Given the description of an element on the screen output the (x, y) to click on. 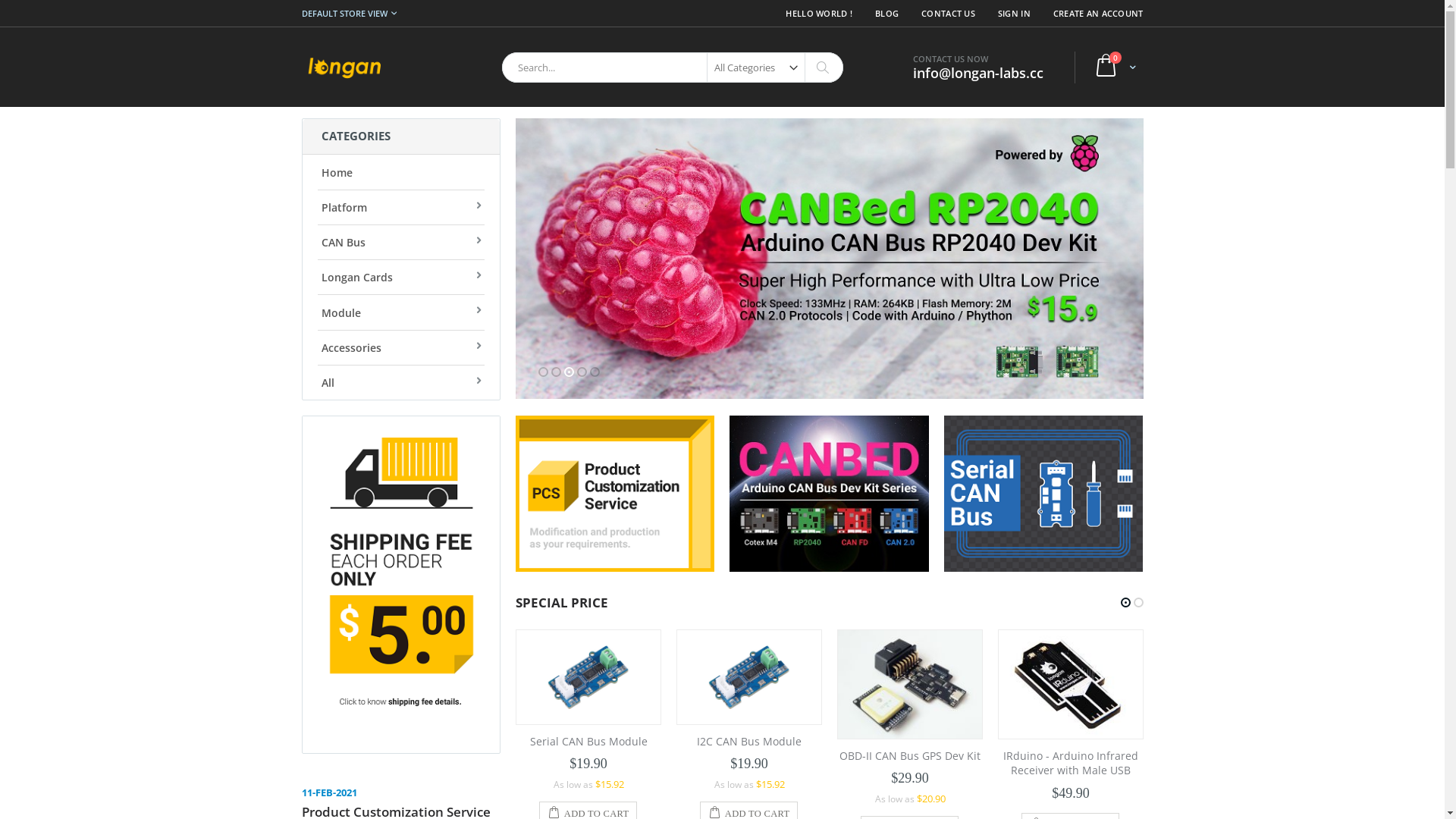
Longan Cards Element type: text (400, 276)
As low as $20.90 Element type: text (749, 798)
Module Element type: text (400, 311)
CREATE AN ACCOUNT Element type: text (1092, 12)
CONTACT US Element type: text (948, 12)
CANBed - Arduino CAN Bus Dev Kit Element type: text (1070, 748)
OBD-II CAN Bus GPS Dev Kit Element type: text (748, 755)
SIGN IN Element type: text (1013, 12)
Home Element type: text (400, 171)
As low as $19.90 Element type: text (1070, 798)
I2C CAN Bus Module Element type: text (588, 741)
Accessories Element type: text (400, 346)
IRduino - Arduino Infrared Receiver with Male USB Element type: text (909, 763)
Cart
0 Element type: text (1112, 67)
As low as $15.92 Element type: text (588, 784)
BLOG Element type: text (886, 12)
Skip to Content Element type: text (300, 6)
Search Element type: text (821, 67)
All Element type: text (400, 381)
CAN Bus Element type: text (400, 241)
Platform Element type: text (400, 206)
